Given the description of an element on the screen output the (x, y) to click on. 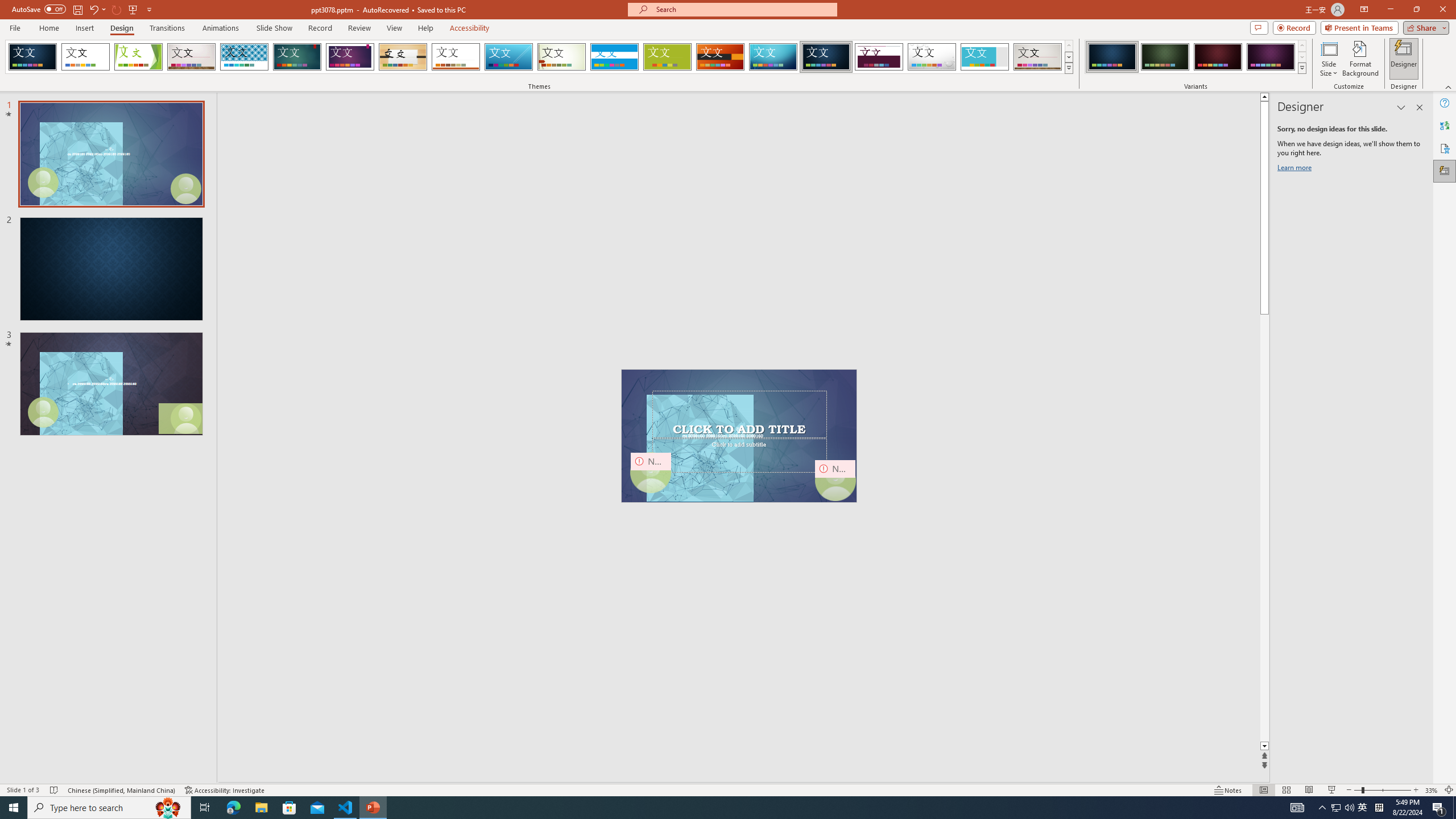
Basis (667, 56)
Berlin (720, 56)
Variants (1301, 67)
Ion Boardroom (350, 56)
Damask Variant 3 (1217, 56)
